Given the description of an element on the screen output the (x, y) to click on. 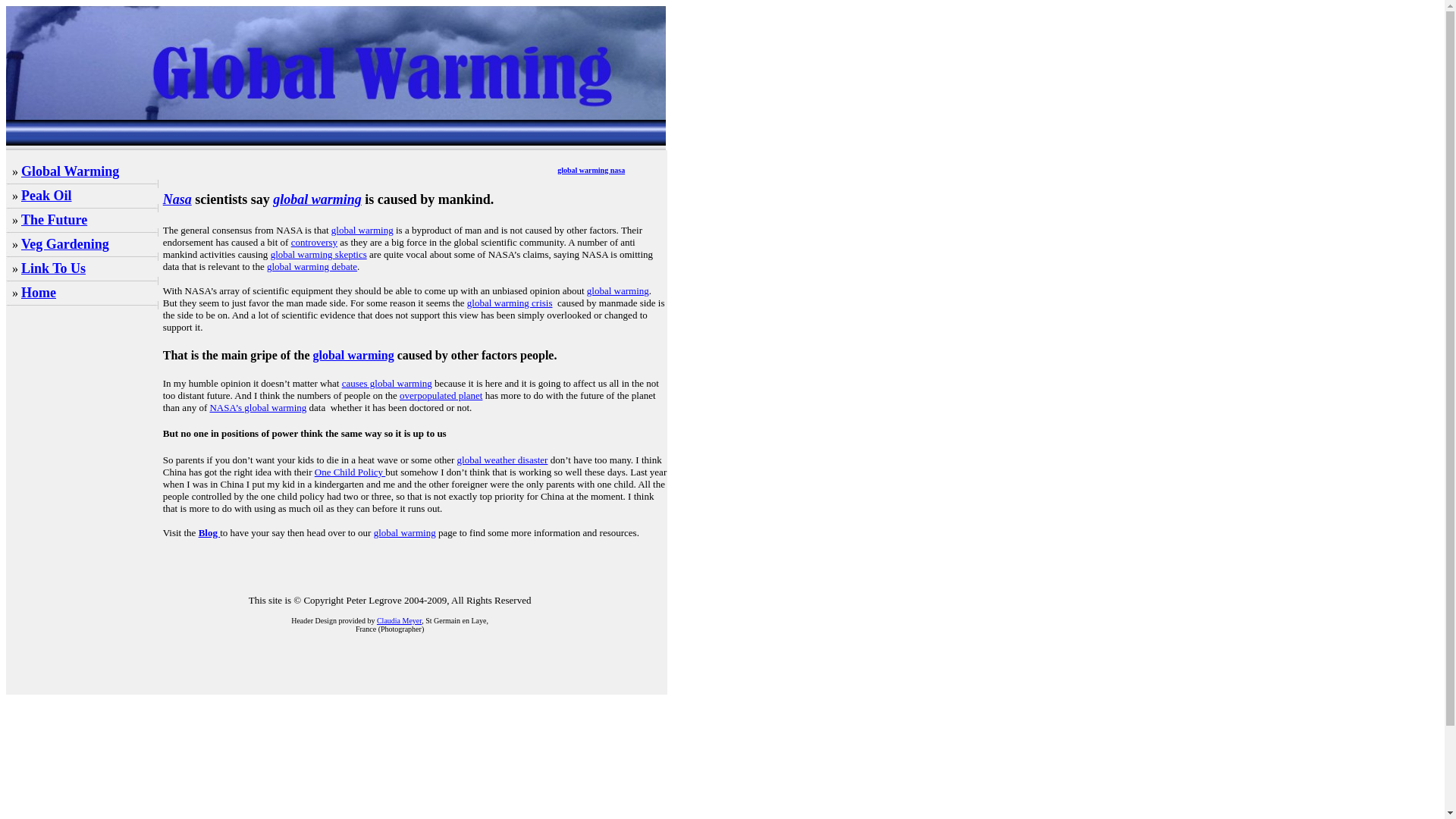
The Future (54, 219)
global warming (317, 199)
causes global warming (387, 383)
Claudia Meyer (399, 620)
overpopulated planet (439, 395)
Nasa (177, 199)
global warming (617, 290)
Global Warming (70, 171)
global warming (362, 229)
Blog (209, 532)
